Given the description of an element on the screen output the (x, y) to click on. 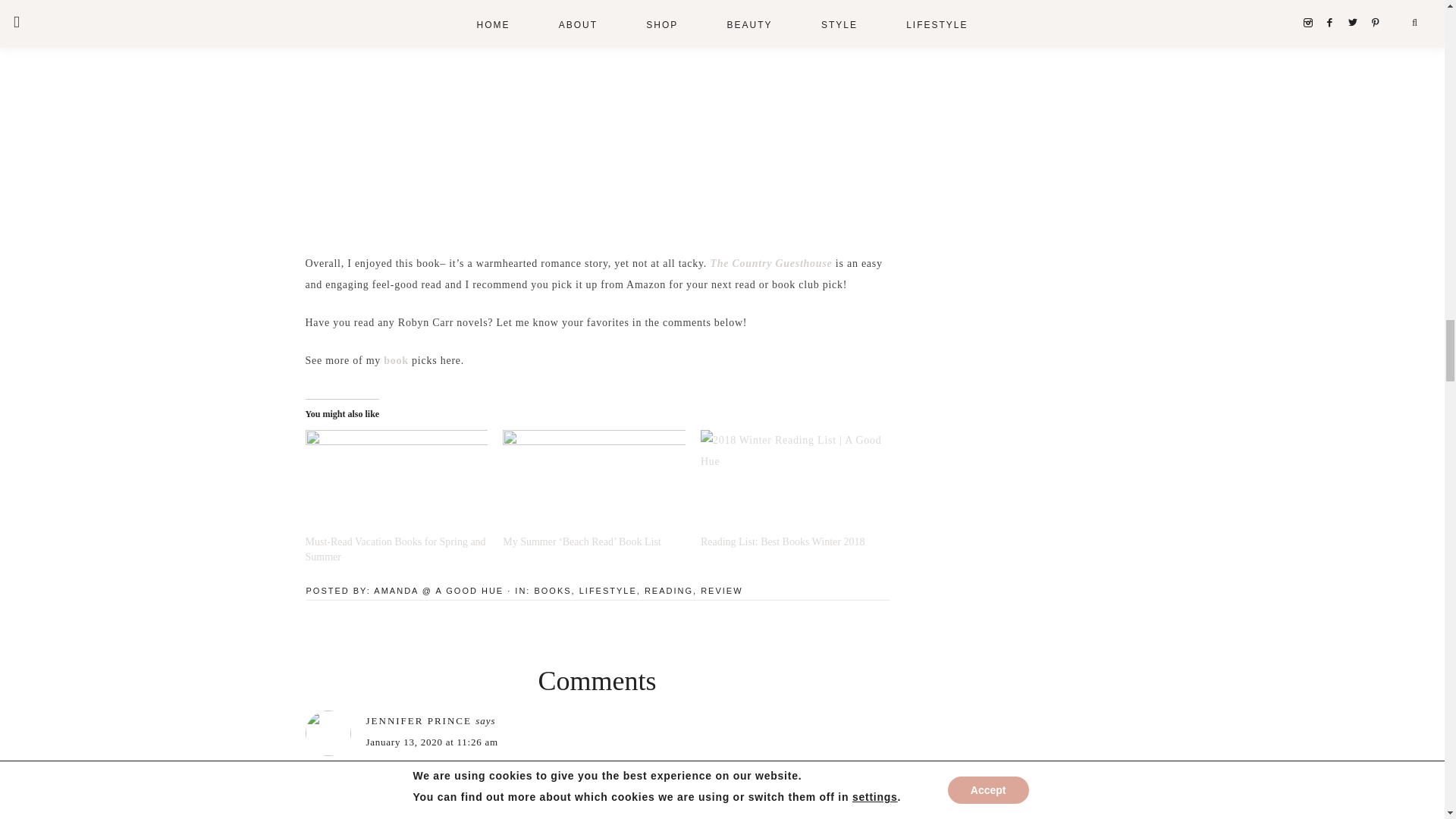
Must-Read Vacation Books for Spring and Summer (394, 549)
Must-Read Vacation Books for Spring and Summer (395, 481)
Reading List: Best Books Winter 2018 (791, 481)
Reading List: Best Books Winter 2018 (782, 541)
